Given the description of an element on the screen output the (x, y) to click on. 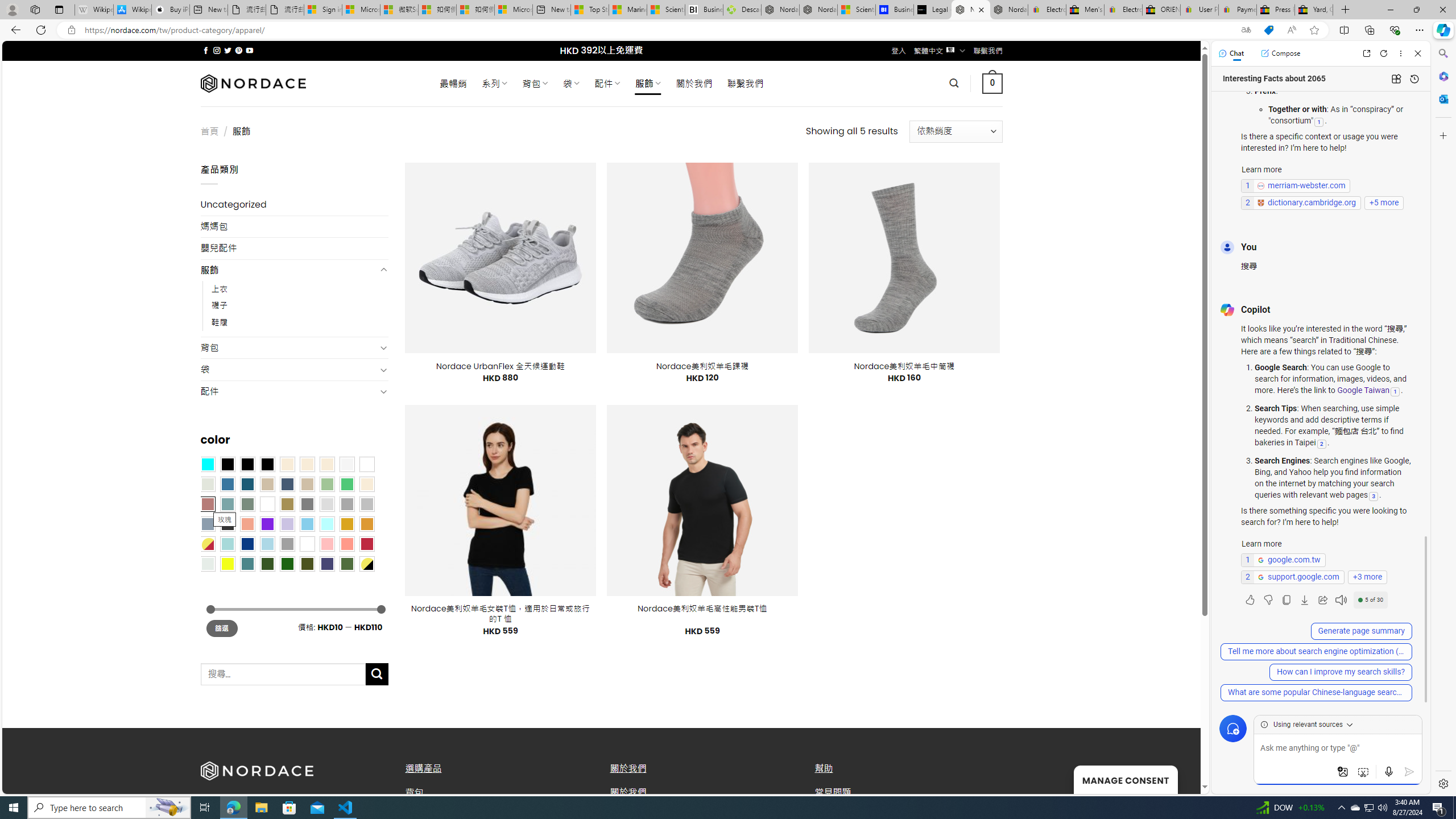
Follow on Facebook (205, 50)
Follow on Instagram (216, 50)
